Given the description of an element on the screen output the (x, y) to click on. 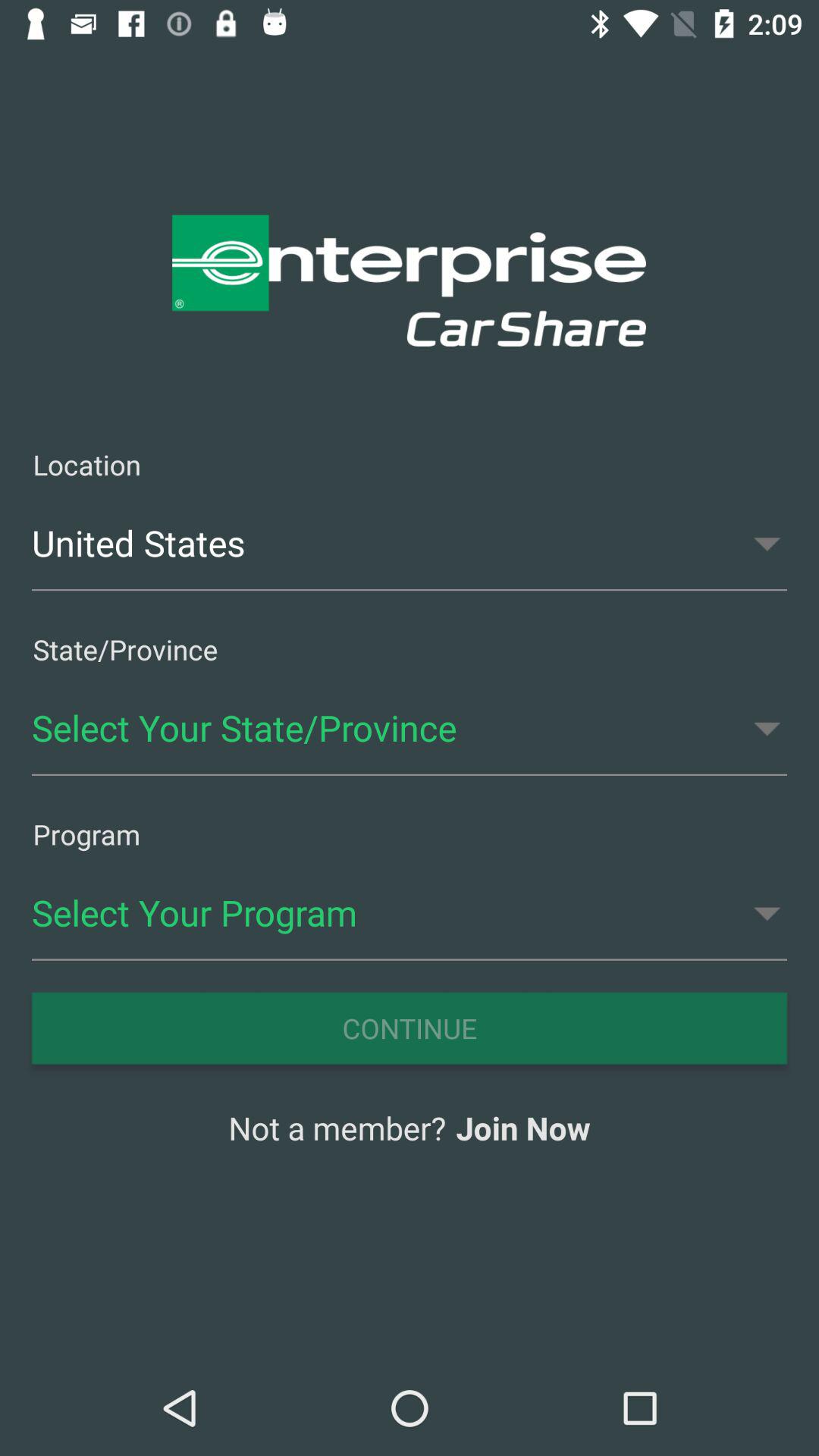
launch continue (409, 1028)
